Given the description of an element on the screen output the (x, y) to click on. 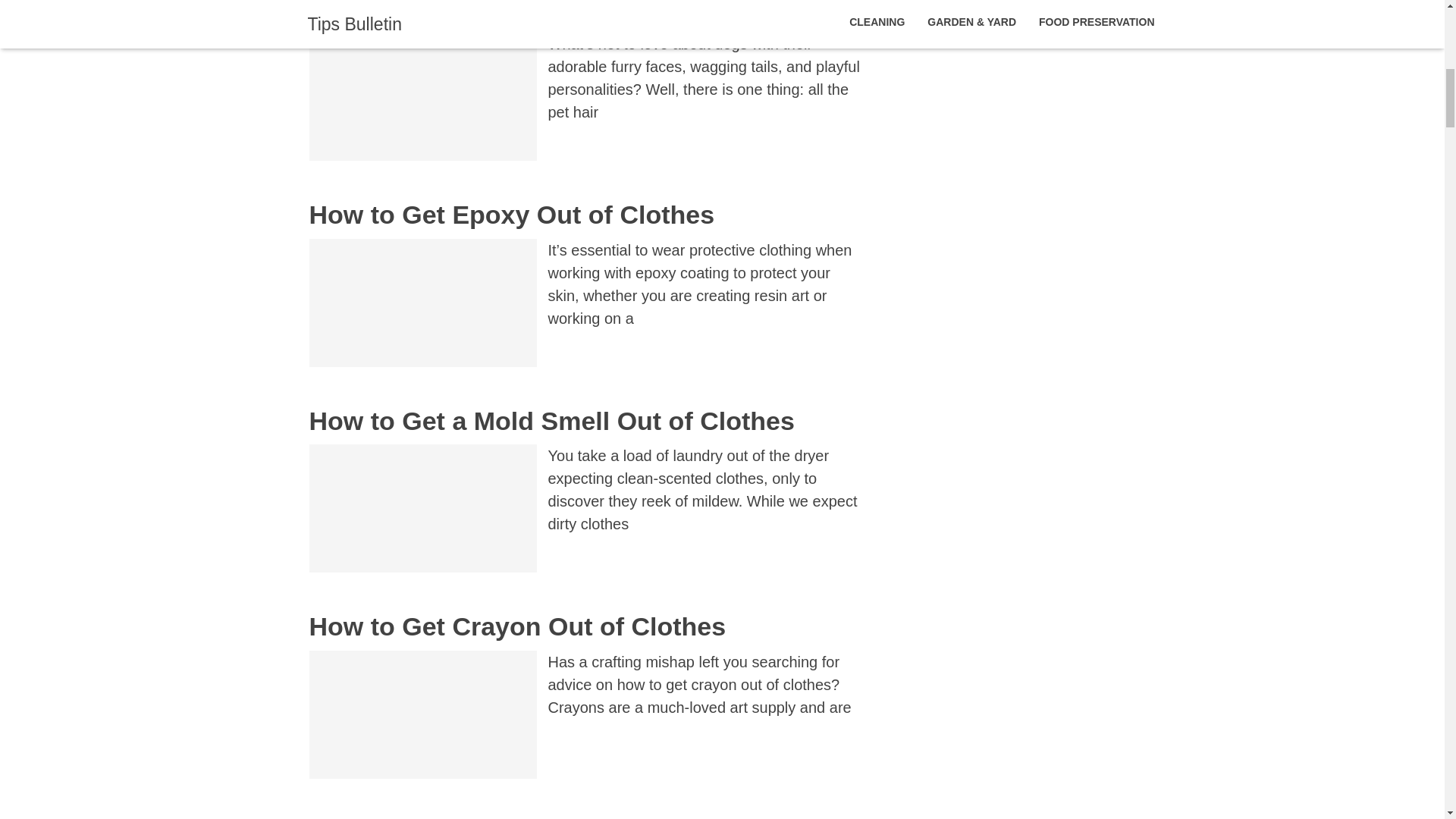
How to Get Crayon Out of Clothes (517, 625)
How to Get Epoxy Out of Clothes (511, 214)
How to Get a Mold Smell Out of Clothes (551, 420)
How to Get Dog Fur Out of Clothes (522, 11)
